Given the description of an element on the screen output the (x, y) to click on. 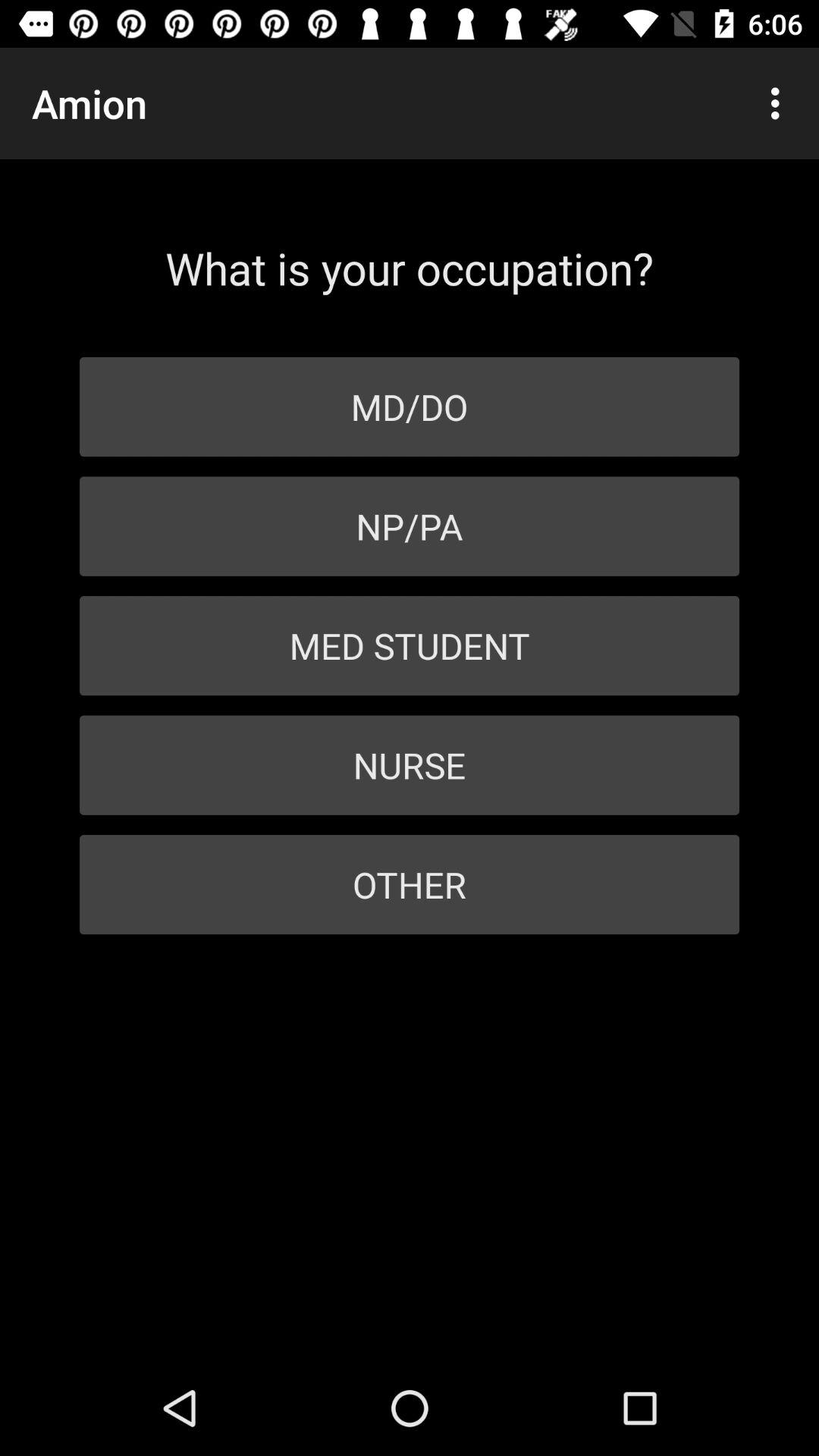
choose item above np/pa icon (409, 406)
